Given the description of an element on the screen output the (x, y) to click on. 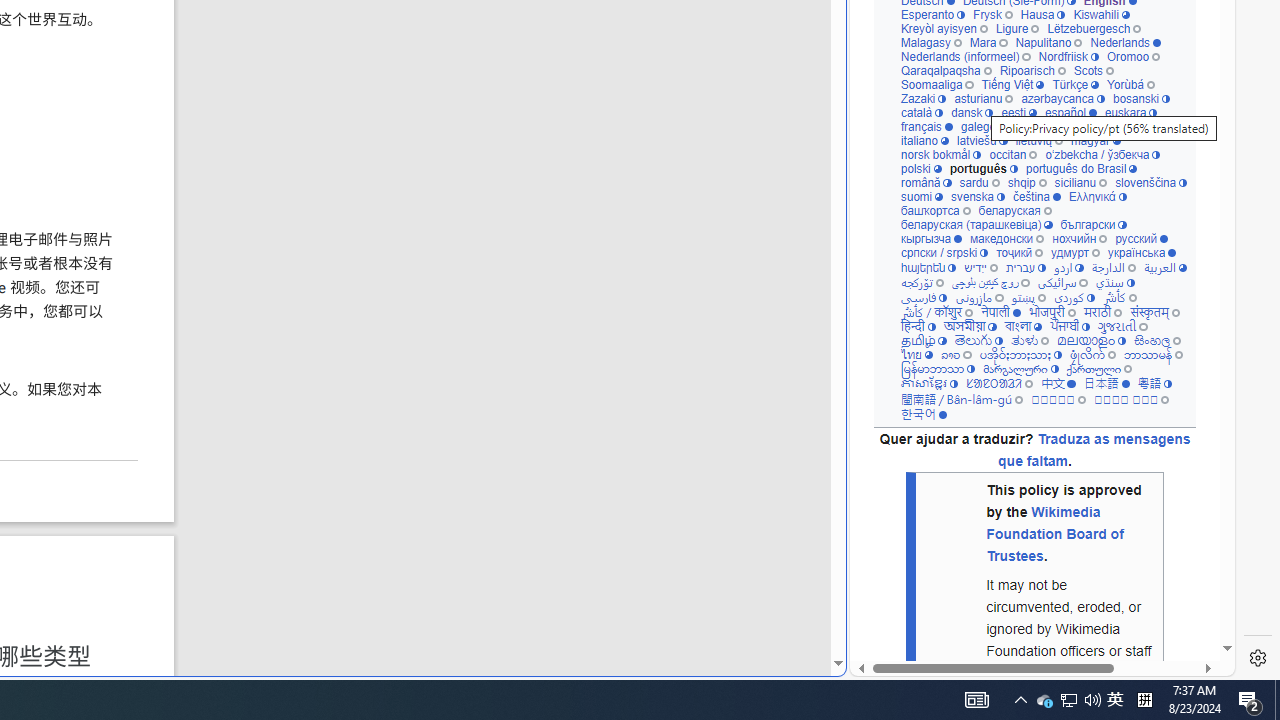
google_privacy_policy_zh-CN.pdf (687, 482)
eesti (1018, 112)
interlingua (1106, 125)
